Given the description of an element on the screen output the (x, y) to click on. 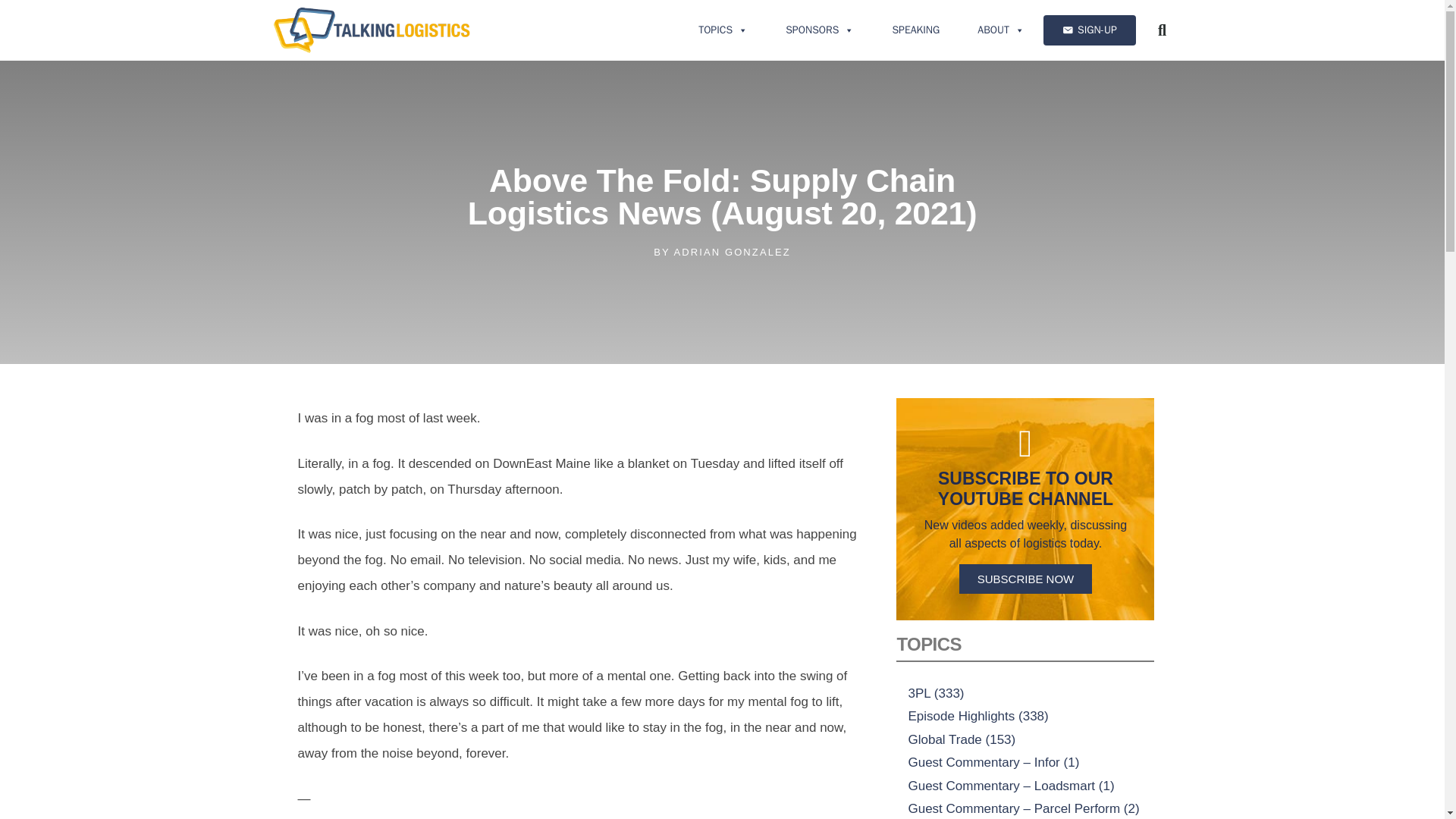
SIGN-UP (1089, 30)
TOPICS (723, 30)
SPEAKING (915, 30)
SPONSORS (819, 30)
ABOUT (1000, 30)
